Given the description of an element on the screen output the (x, y) to click on. 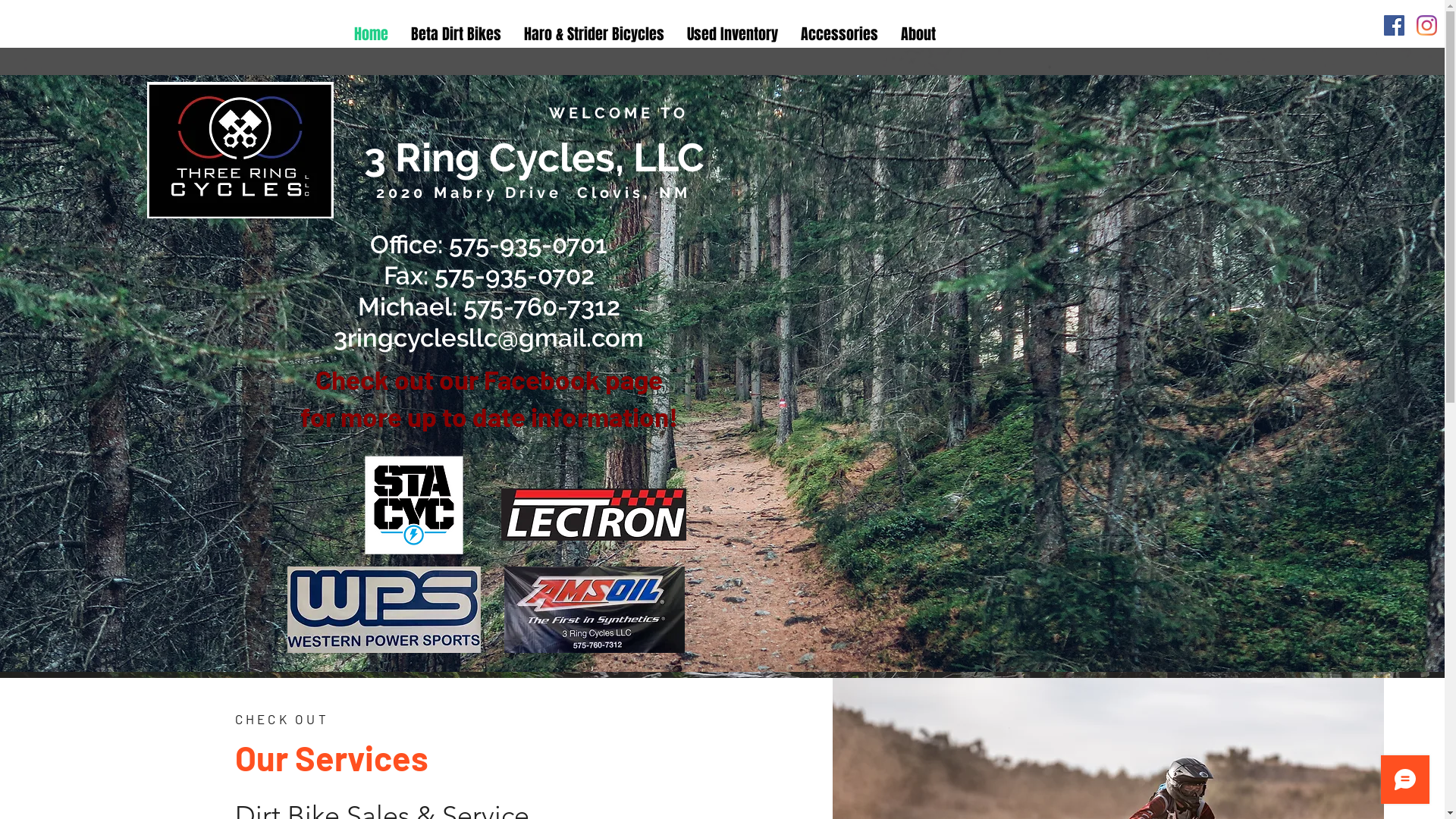
IMG_4814.JPG Element type: hover (383, 609)
StacycLogo1.png Element type: hover (413, 504)
IMG_4813.JPG Element type: hover (594, 609)
image0_edited.jpg Element type: hover (240, 149)
Lectron - Red Stripe Logo_V2(1).jpg Element type: hover (593, 514)
Beta Dirt Bikes Element type: text (455, 34)
Accessories Element type: text (839, 34)
3ringcyclesllc@gmail.com Element type: text (488, 337)
Home Element type: text (370, 34)
Used Inventory Element type: text (732, 34)
About Element type: text (918, 34)
Haro & Strider Bicycles Element type: text (593, 34)
